Given the description of an element on the screen output the (x, y) to click on. 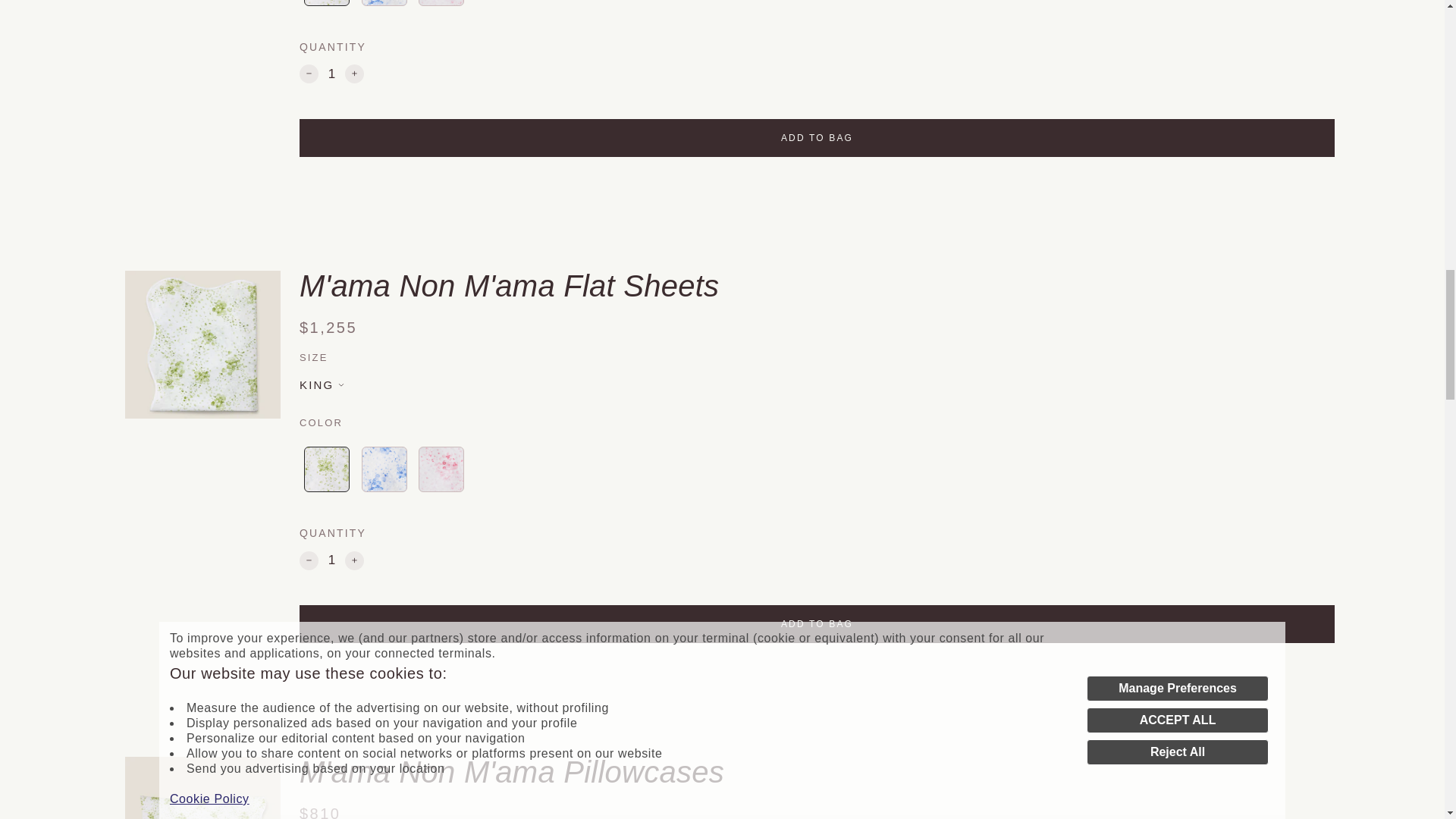
1 (331, 73)
1 (331, 560)
